Given the description of an element on the screen output the (x, y) to click on. 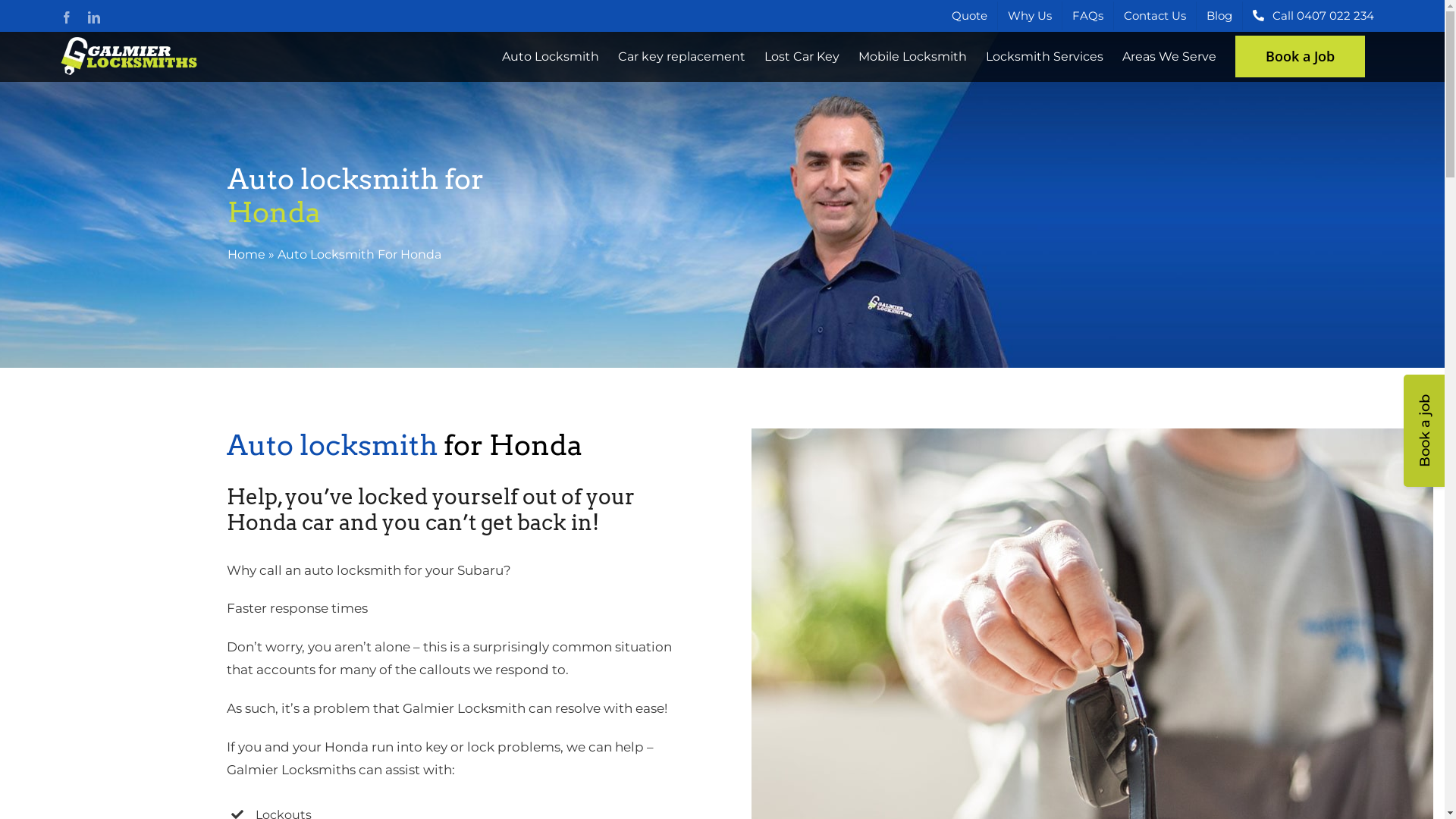
Blog Element type: text (1219, 15)
LinkedIn Element type: text (93, 17)
Home Element type: text (246, 254)
Contact Us Element type: text (1154, 15)
Mobile Locksmith Element type: text (912, 56)
Call 0407 022 234 Element type: text (1312, 15)
Lost Car Key Element type: text (801, 56)
Why Us Element type: text (1029, 15)
Quote Element type: text (969, 15)
FAQs Element type: text (1087, 15)
Car key replacement Element type: text (681, 56)
Locksmith Services Element type: text (1044, 56)
Auto Locksmith Element type: text (550, 56)
Areas We Serve Element type: text (1169, 56)
Book a Job Element type: text (1300, 56)
Facebook Element type: text (66, 17)
